Given the description of an element on the screen output the (x, y) to click on. 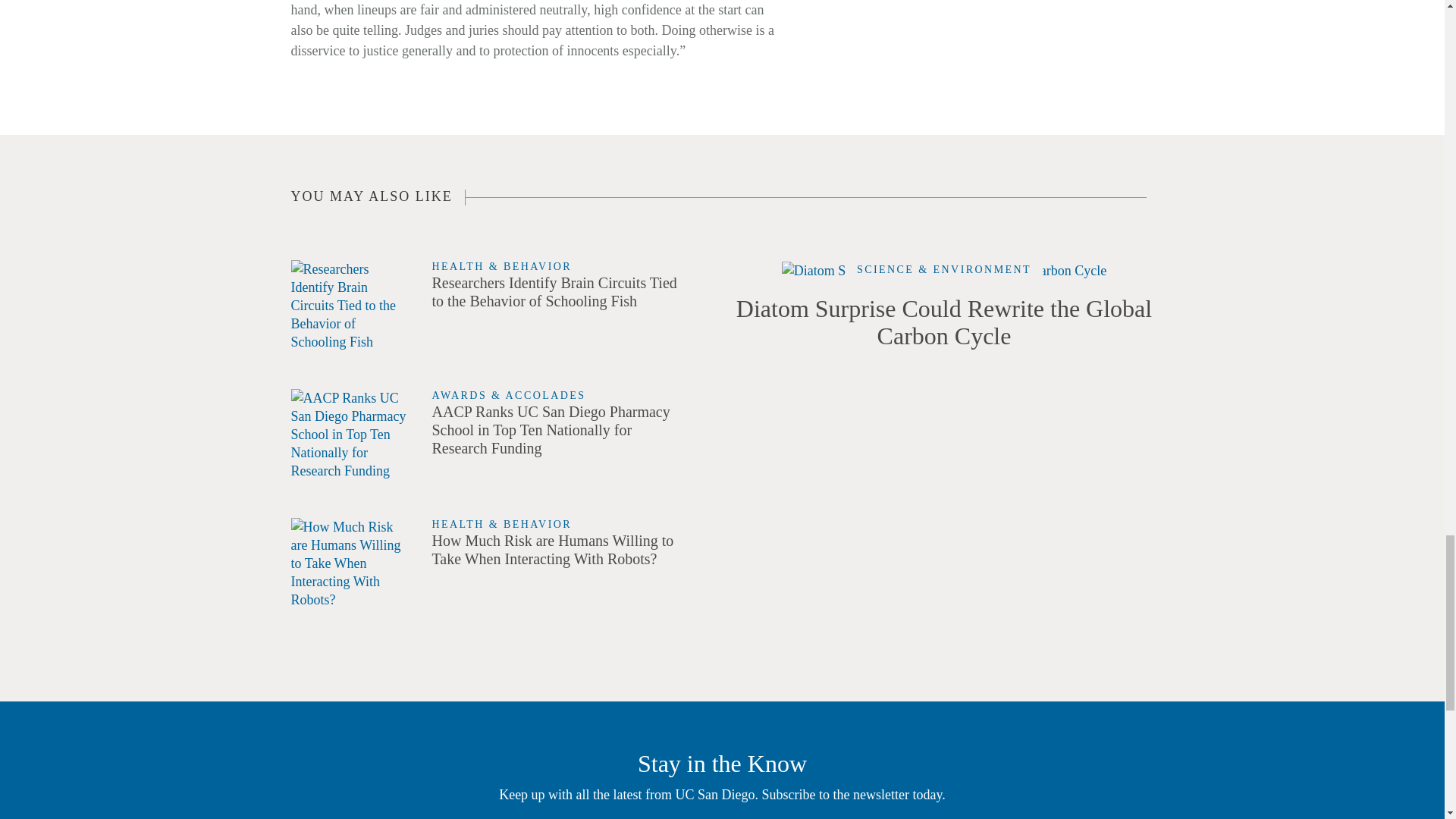
Glassfish swim in a tank. (350, 305)
